Given the description of an element on the screen output the (x, y) to click on. 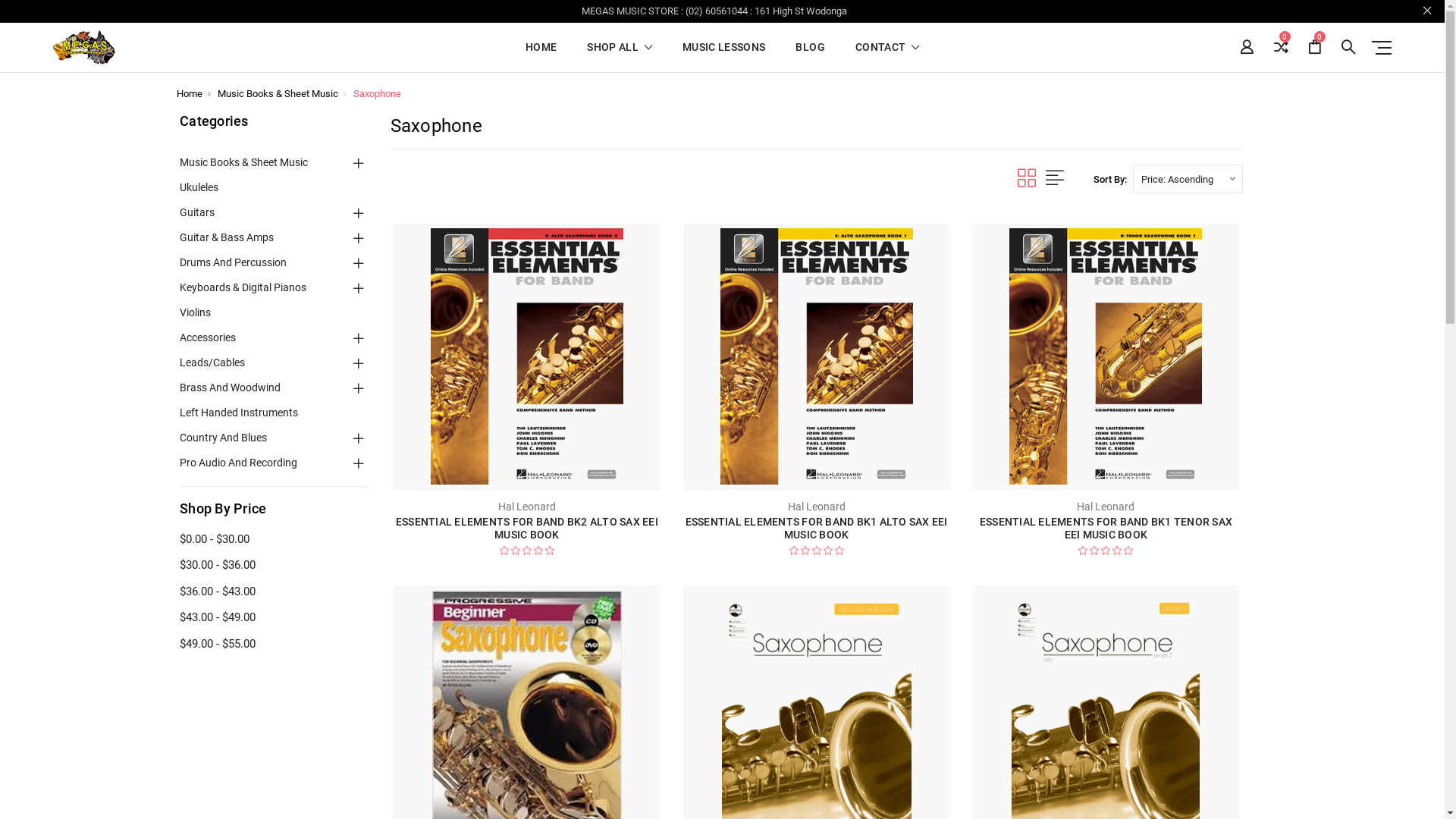
Music Books & Sheet Music Element type: text (243, 162)
Ukuleles Element type: text (198, 186)
$36.00 - $43.00 Element type: text (273, 590)
Home Element type: text (188, 93)
ESSENTIAL ELEMENTS FOR BAND BK1 ALTO SAX EEI MUSIC BOOK Element type: text (816, 527)
ESSENTIAL ELEMENTS FOR BAND BK1 ALTO SAX EEI MUSIC BOOK Element type: hover (816, 356)
Country And Blues Element type: text (222, 436)
CONTACT Element type: text (887, 56)
HOME Element type: text (540, 56)
0 Element type: text (1280, 46)
ESSENTIAL ELEMENTS FOR BAND BK2 ALTO SAX EEI MUSIC BOOK Element type: hover (526, 356)
Brass And Woodwind Element type: text (229, 386)
0 Element type: text (1314, 46)
Accessories Element type: text (207, 336)
ESSENTIAL ELEMENTS FOR BAND BK2 ALTO SAX EEI MUSIC BOOK Element type: text (526, 527)
Saxophone Element type: text (377, 93)
Drums And Percussion Element type: text (232, 262)
$0.00 - $30.00 Element type: text (273, 539)
Music Books & Sheet Music Element type: text (276, 93)
Leads/Cables Element type: text (211, 362)
$49.00 - $55.00 Element type: text (273, 643)
ESSENTIAL ELEMENTS FOR BAND BK1 TENOR SAX EEI MUSIC BOOK Element type: hover (1105, 356)
BLOG Element type: text (809, 56)
MUSIC LESSONS Element type: text (723, 56)
Left Handed Instruments Element type: text (238, 412)
ESSENTIAL ELEMENTS FOR BAND BK1 TENOR SAX EEI MUSIC BOOK Element type: text (1105, 527)
Violins Element type: text (194, 312)
Guitars Element type: text (196, 212)
Pro Audio And Recording Element type: text (238, 462)
Keyboards & Digital Pianos Element type: text (242, 286)
$43.00 - $49.00 Element type: text (273, 617)
SHOP ALL Element type: text (619, 56)
Megas Music Store Element type: hover (84, 47)
Guitar & Bass Amps Element type: text (226, 236)
$30.00 - $36.00 Element type: text (273, 565)
